Given the description of an element on the screen output the (x, y) to click on. 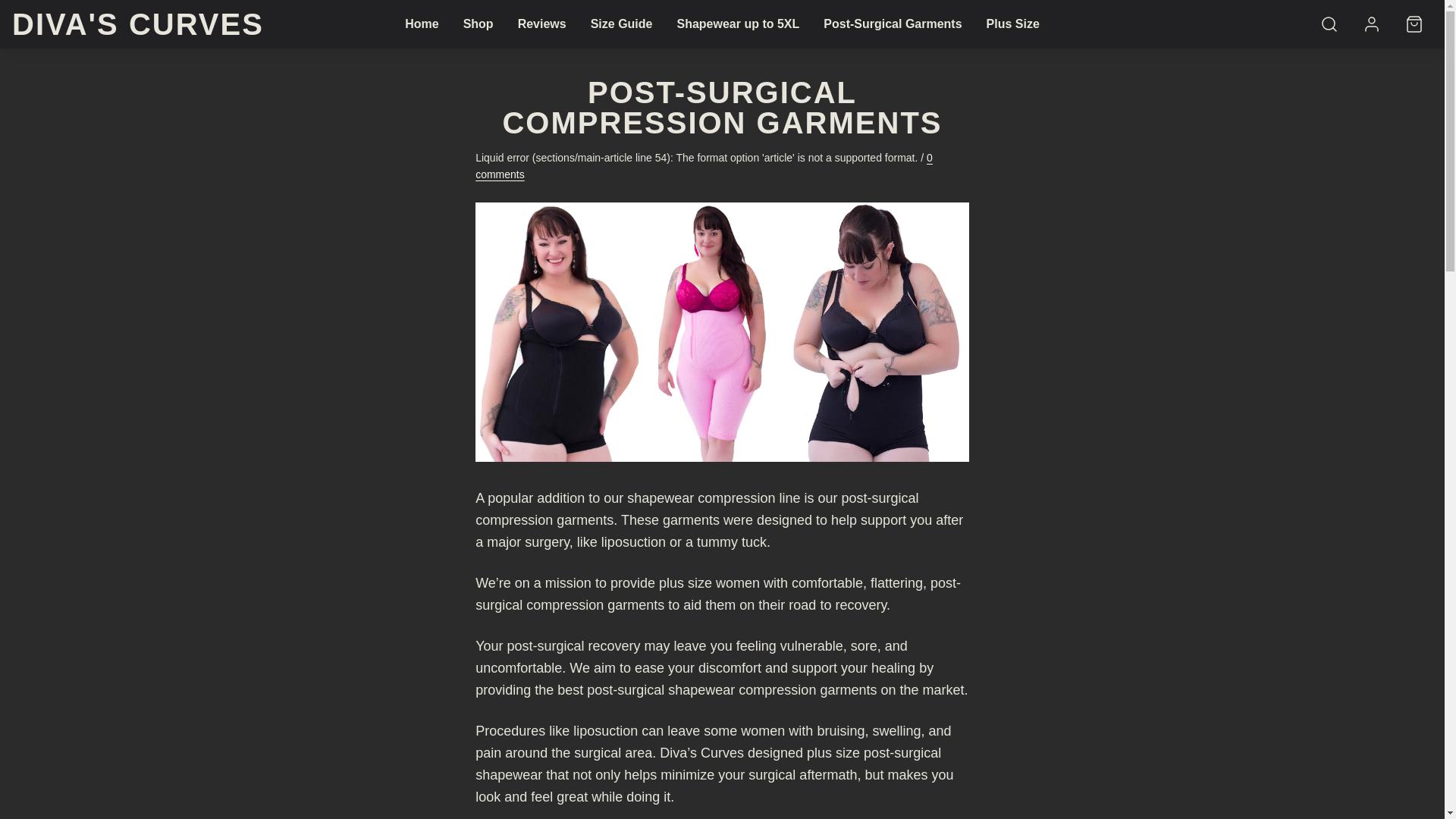
Shop (478, 24)
Post-Surgical Garments (892, 24)
Reviews (541, 24)
Size Guide (621, 24)
0 comments (704, 165)
Search (1329, 23)
Plus Size (1012, 24)
Shapewear up to 5XL (737, 24)
Home (421, 24)
Account (1372, 23)
